Given the description of an element on the screen output the (x, y) to click on. 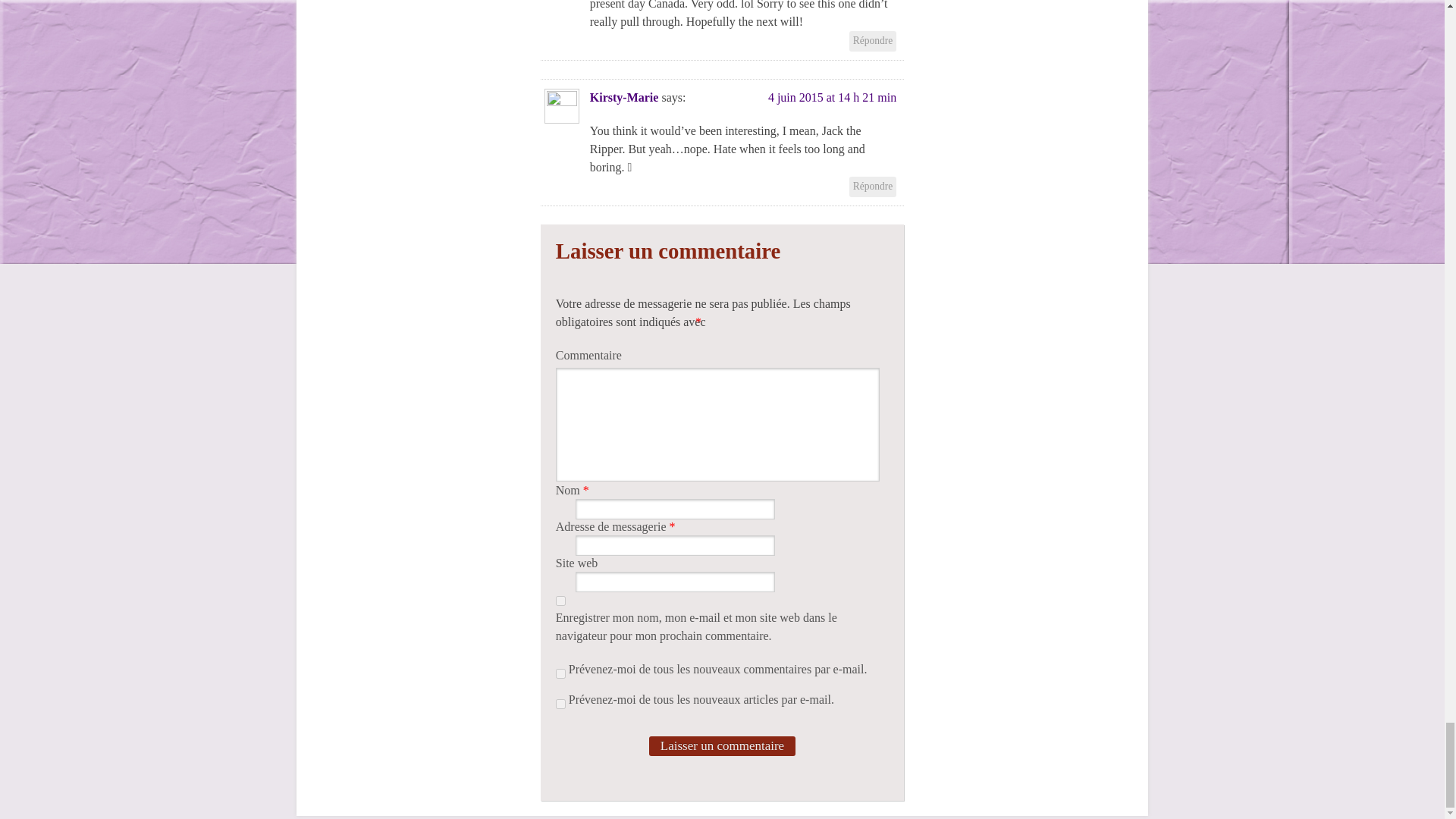
subscribe (561, 673)
Laisser un commentaire (721, 745)
yes (561, 601)
subscribe (561, 704)
